Given the description of an element on the screen output the (x, y) to click on. 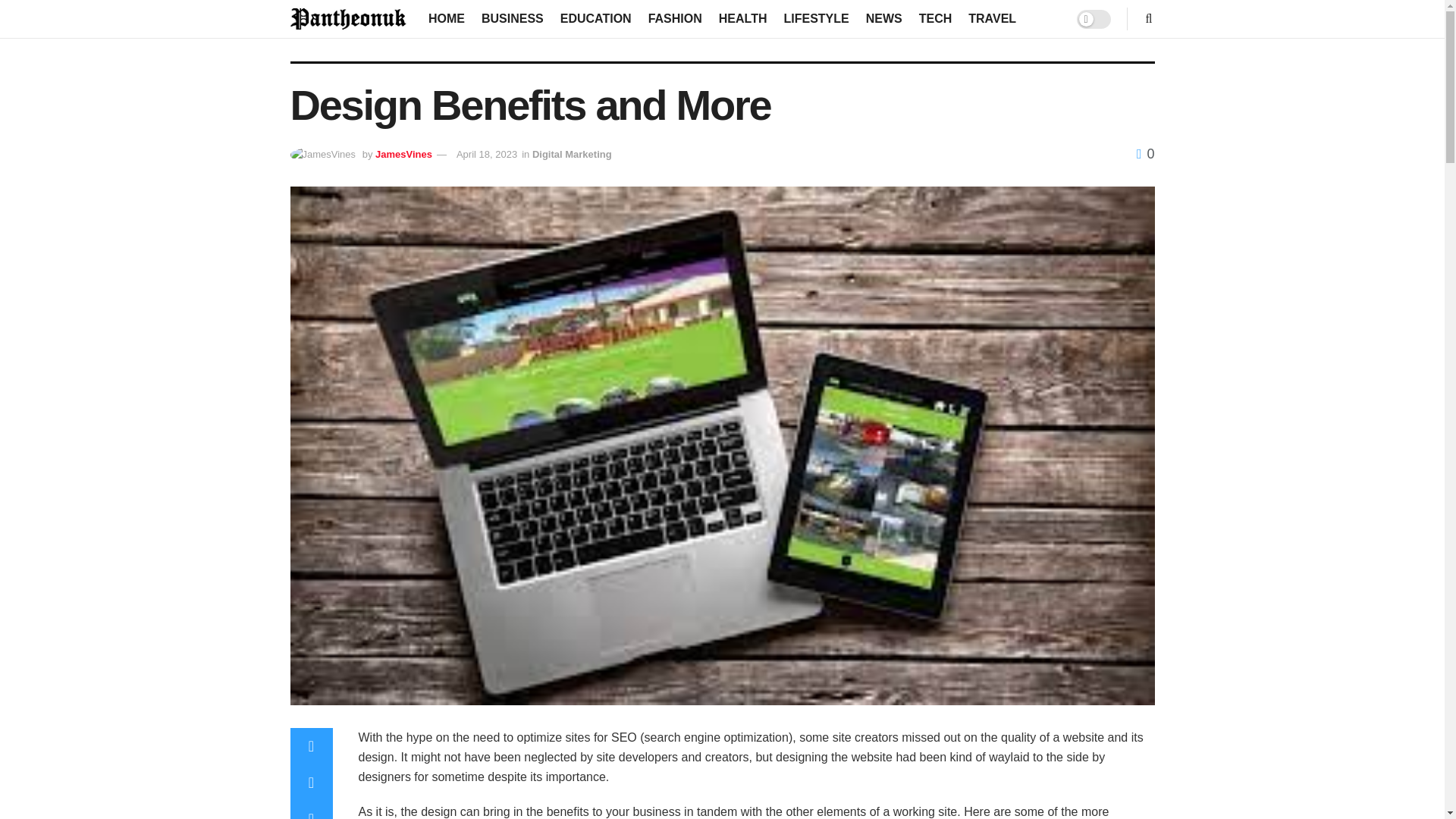
BUSINESS (512, 18)
HEALTH (743, 18)
HOME (446, 18)
NEWS (884, 18)
FASHION (674, 18)
TRAVEL (992, 18)
EDUCATION (595, 18)
April 18, 2023 (486, 153)
0 (1145, 153)
TECH (935, 18)
JamesVines (403, 153)
Digital Marketing (571, 153)
LIFESTYLE (815, 18)
